Given the description of an element on the screen output the (x, y) to click on. 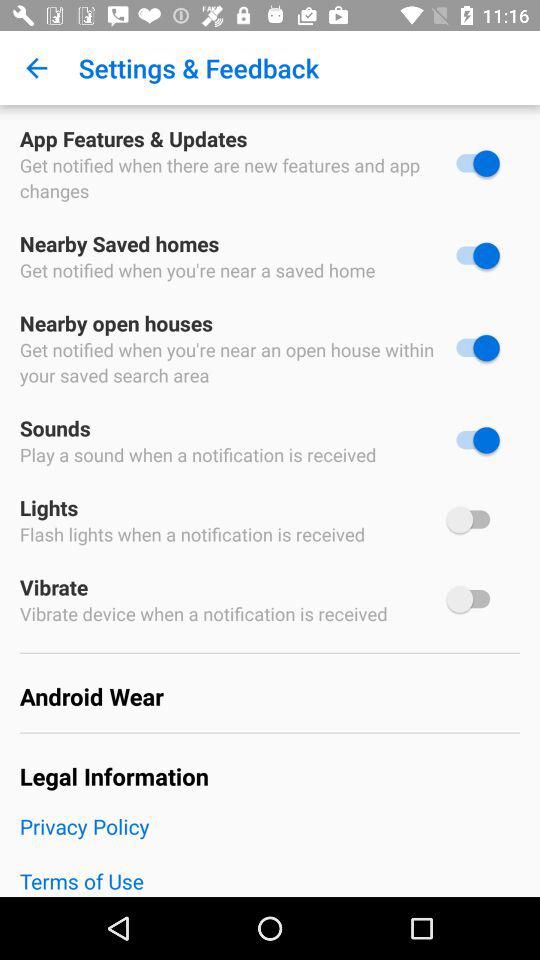
toggle on and off (473, 348)
